Given the description of an element on the screen output the (x, y) to click on. 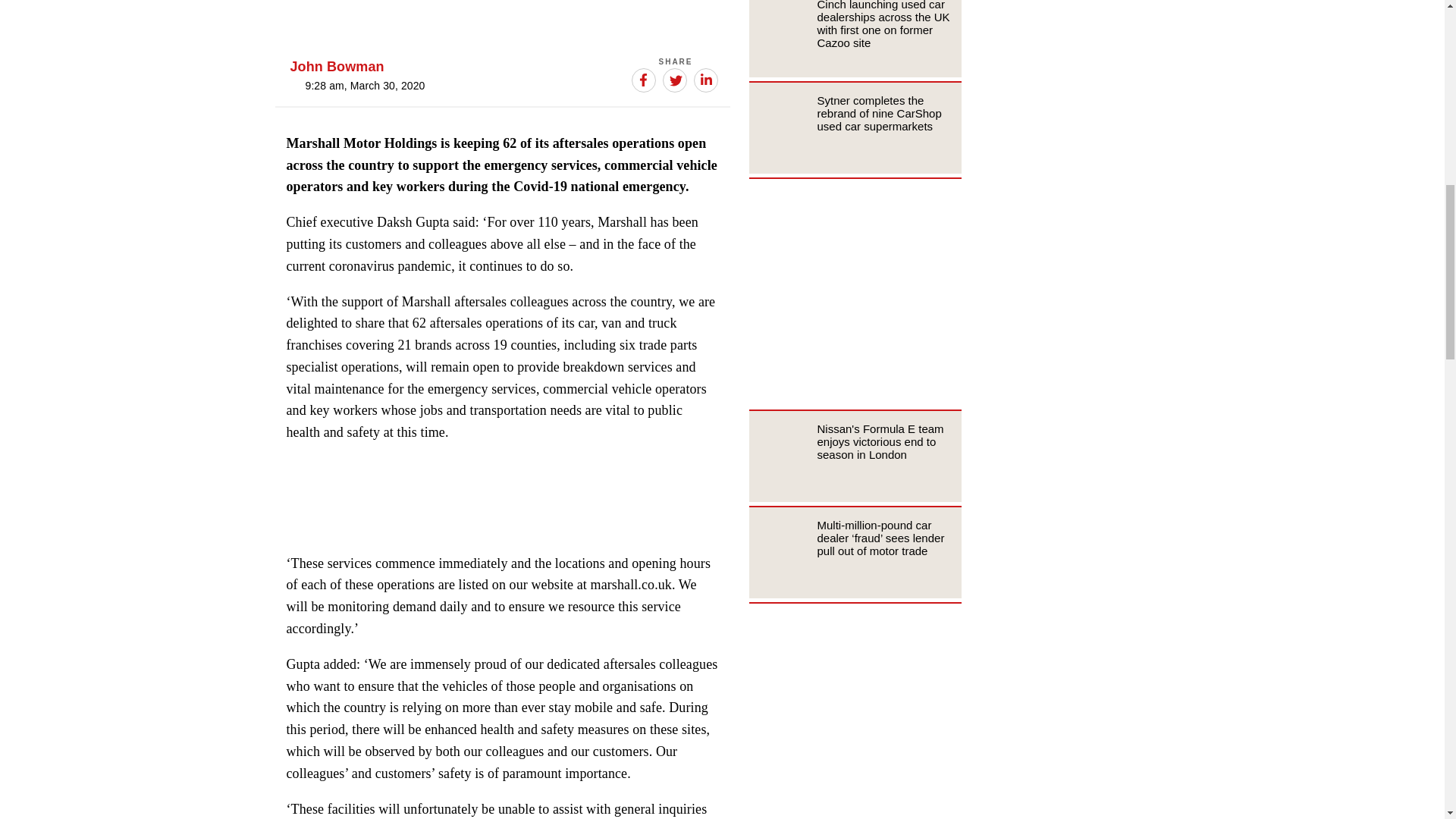
Posts by John Bowman (336, 66)
John Bowman (336, 66)
